Given the description of an element on the screen output the (x, y) to click on. 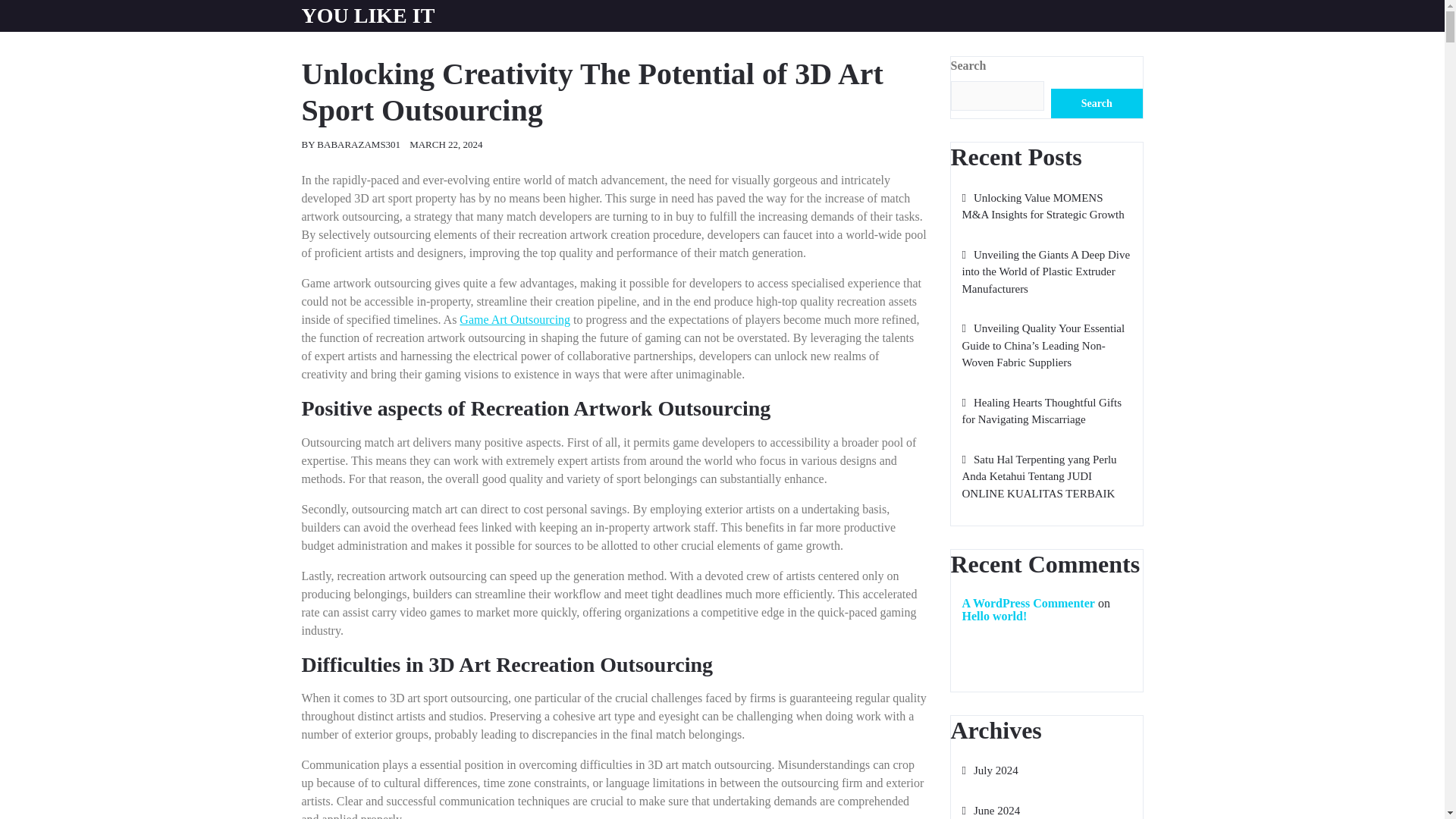
Search (1096, 102)
Healing Hearts Thoughtful Gifts for Navigating Miscarriage (1040, 410)
June 2024 (990, 810)
Hello world! (993, 615)
A WordPress Commenter (1027, 603)
YOU LIKE IT (368, 15)
BABARAZAMS301 (358, 143)
July 2024 (988, 770)
Game Art Outsourcing (515, 318)
